Given the description of an element on the screen output the (x, y) to click on. 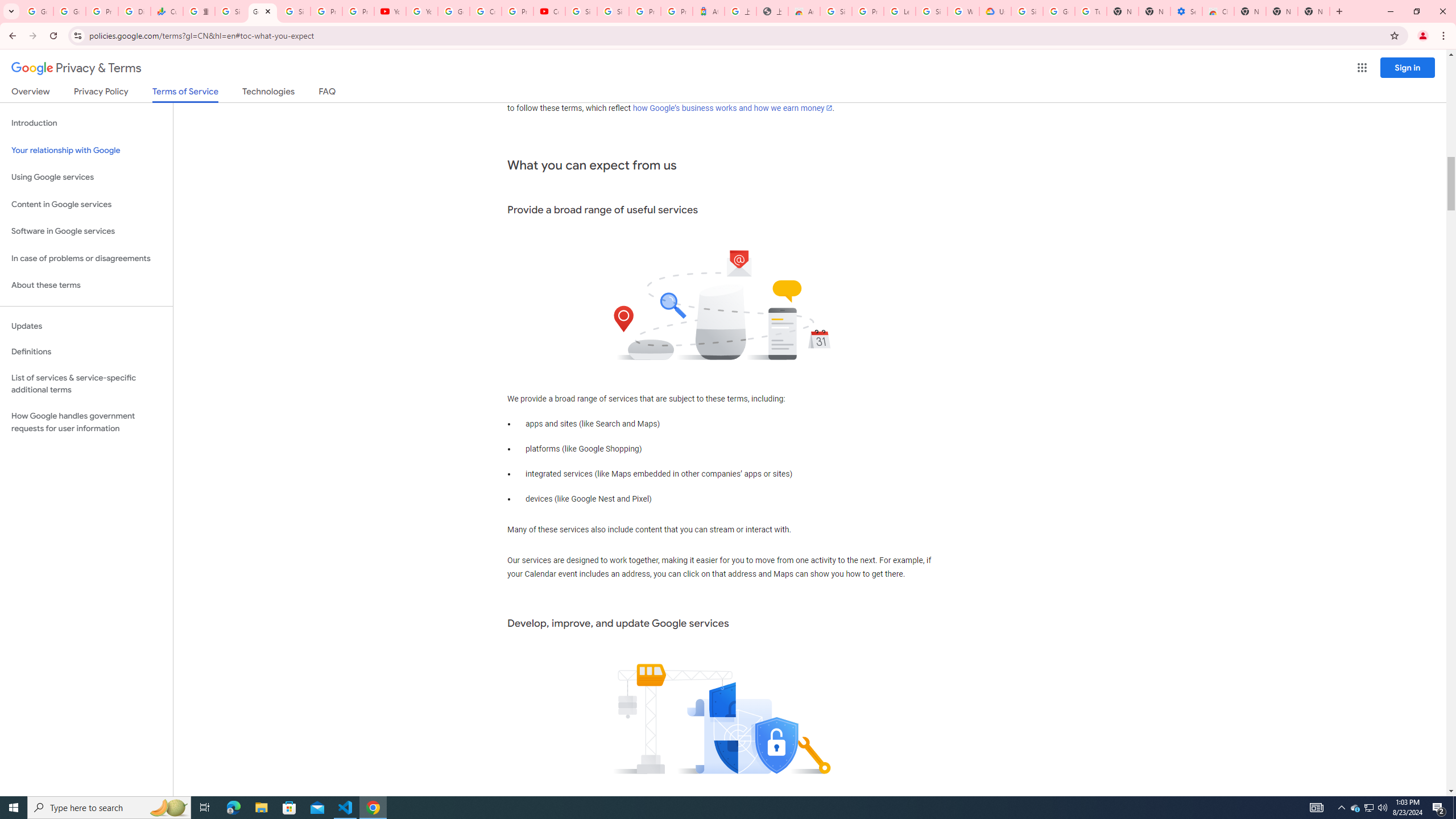
New Tab (1338, 11)
Reload (52, 35)
Google Account Help (453, 11)
Sign in - Google Accounts (1027, 11)
Sign in - Google Accounts (230, 11)
Restore (1416, 11)
Atour Hotel - Google hotels (708, 11)
Updates (86, 325)
Bookmark this tab (1393, 35)
System (6, 6)
FAQ (327, 93)
